Given the description of an element on the screen output the (x, y) to click on. 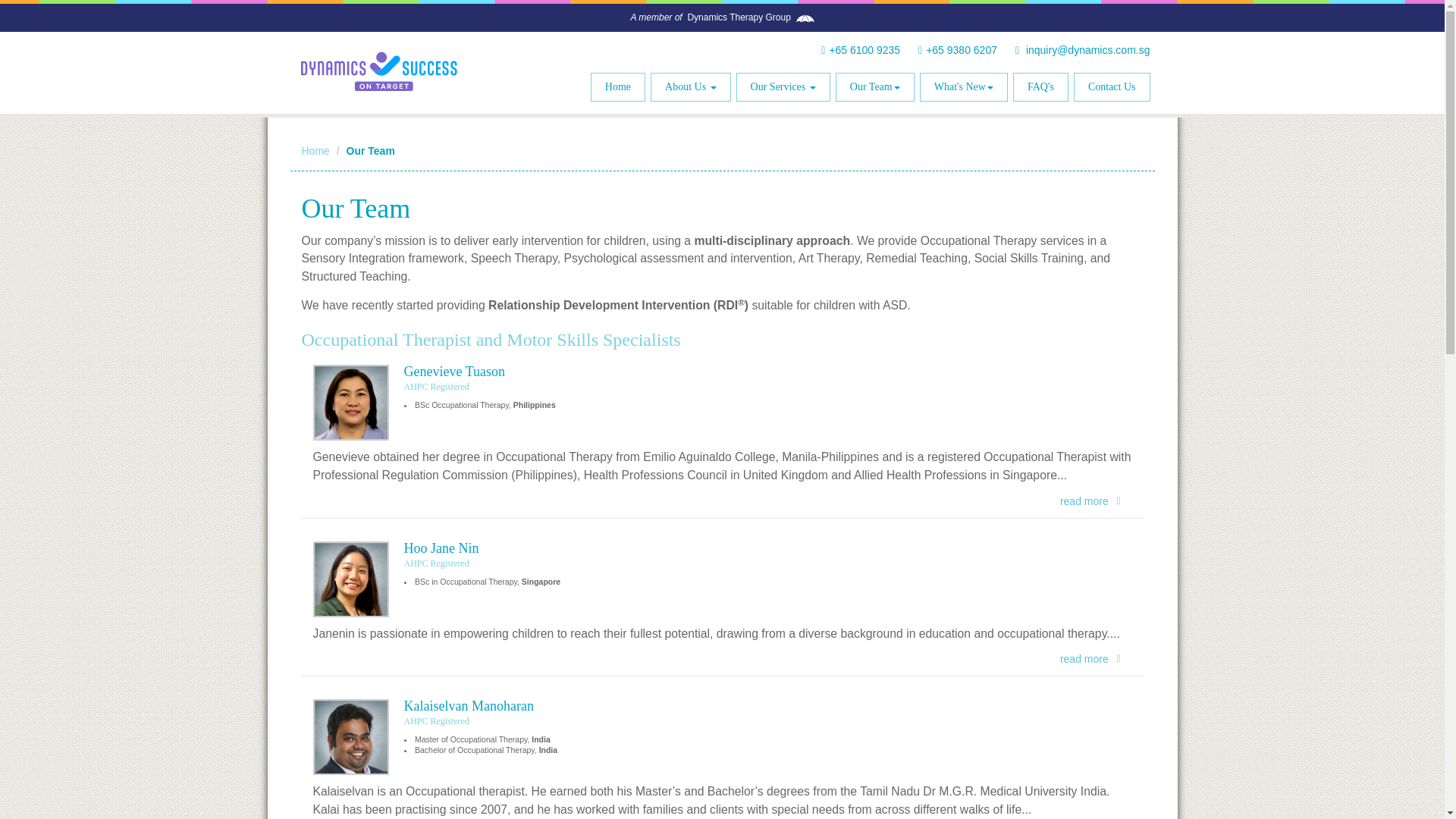
What's New (963, 86)
Home (618, 86)
About Us (690, 86)
Our Team (874, 86)
read more (1095, 501)
Dynamics Therapy Group (738, 17)
Contact Us (1112, 86)
FAQ's (1040, 86)
Home (315, 150)
Our Services (782, 86)
